Given the description of an element on the screen output the (x, y) to click on. 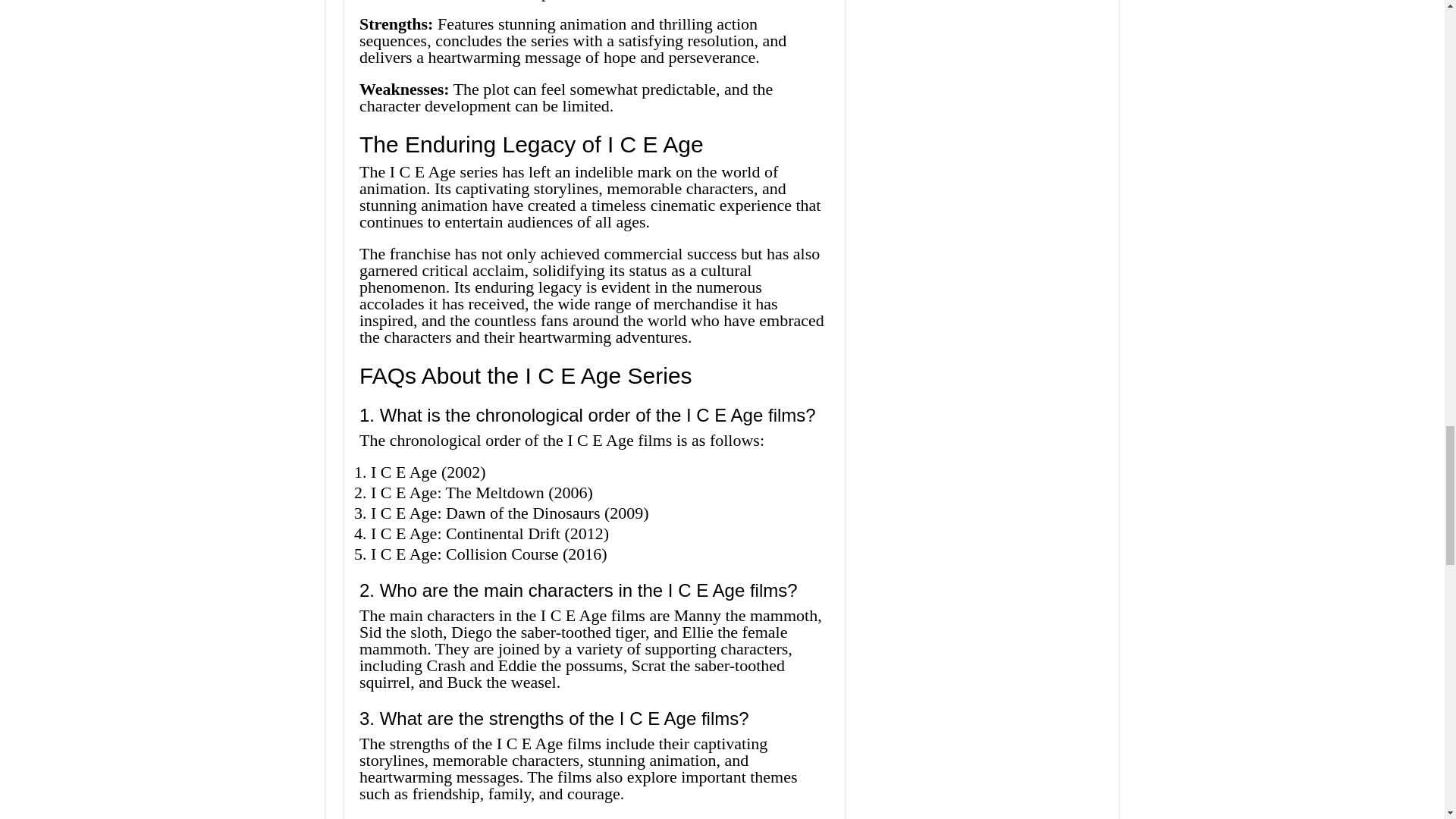
Who are the main characters in the I C E Age films? (594, 590)
What is the chronological order of the I C E Age films? (594, 415)
What are the strengths of the I C E Age films? (594, 719)
